Given the description of an element on the screen output the (x, y) to click on. 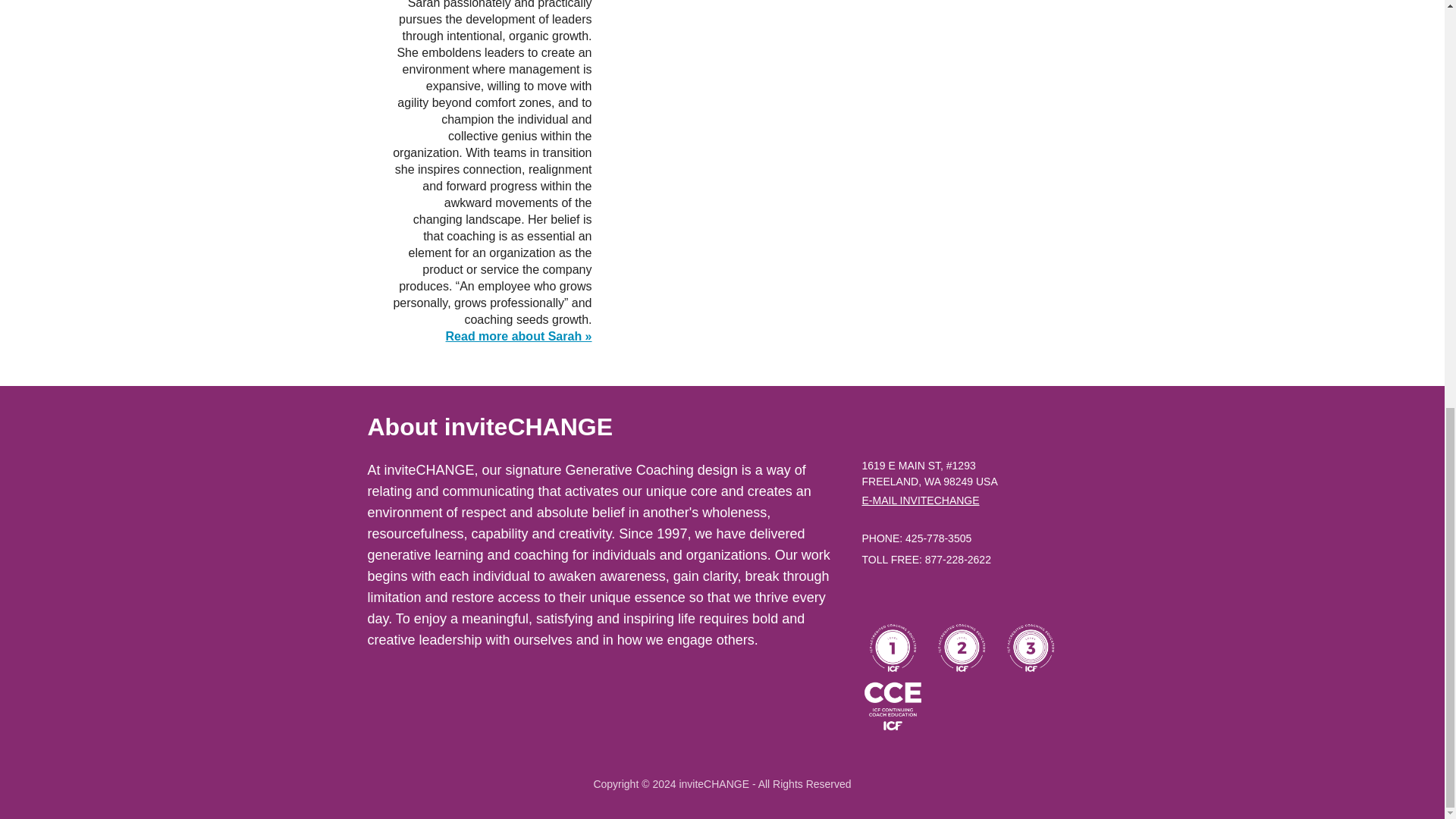
Washington (932, 481)
inviteCHANGE on Twitter (928, 598)
inviteCHANGE on LinkedIn (901, 598)
inviteCHANGE on Facebook (873, 598)
inviteCHANGE on Instagram (956, 598)
inviteCHANGE Homepage (944, 434)
inviteCHANGE on YouTube (983, 598)
inviteCHANGE Homepage (944, 448)
E-MAIL INVITECHANGE (919, 500)
